Given the description of an element on the screen output the (x, y) to click on. 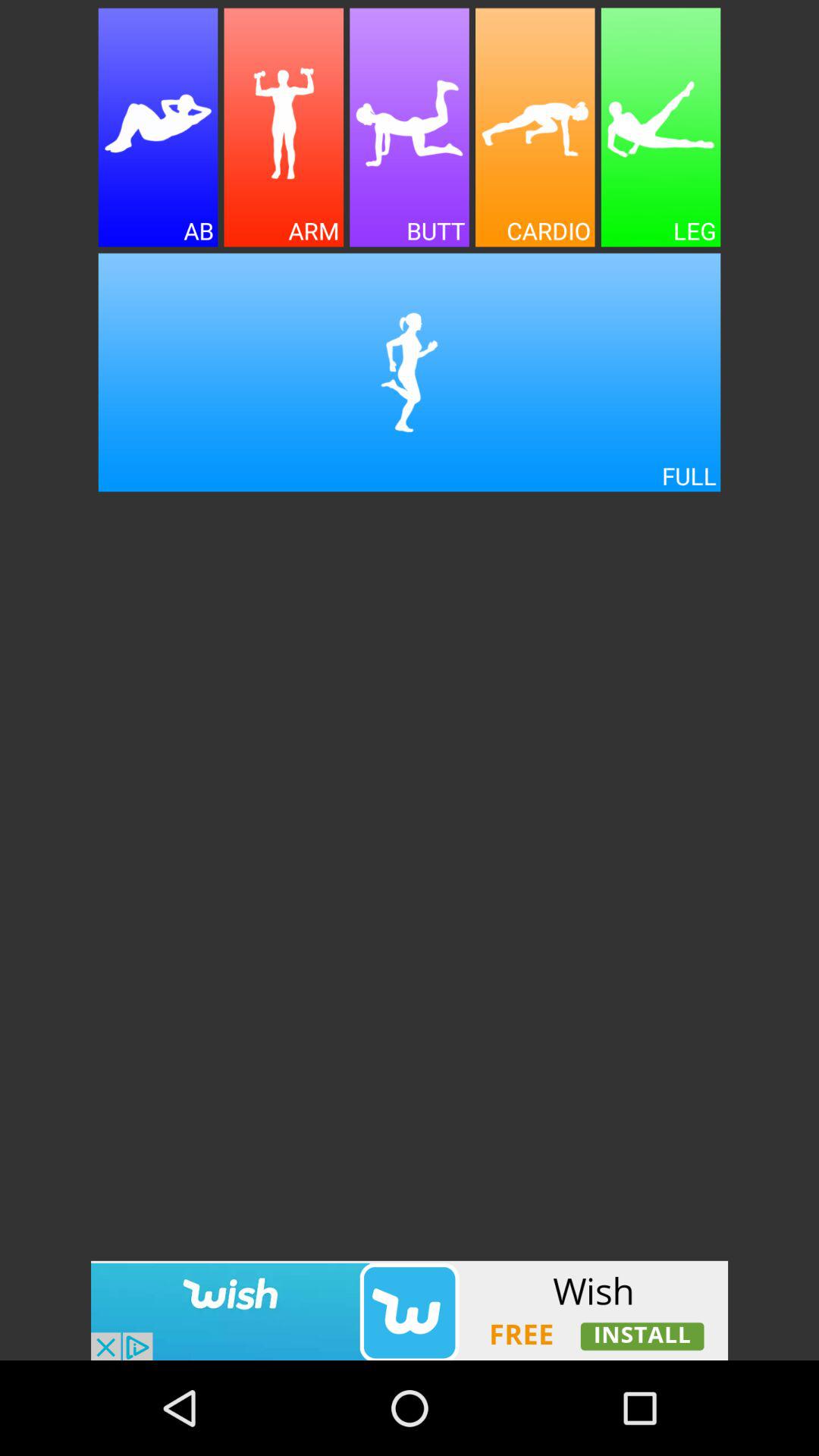
share the article (283, 126)
